Given the description of an element on the screen output the (x, y) to click on. 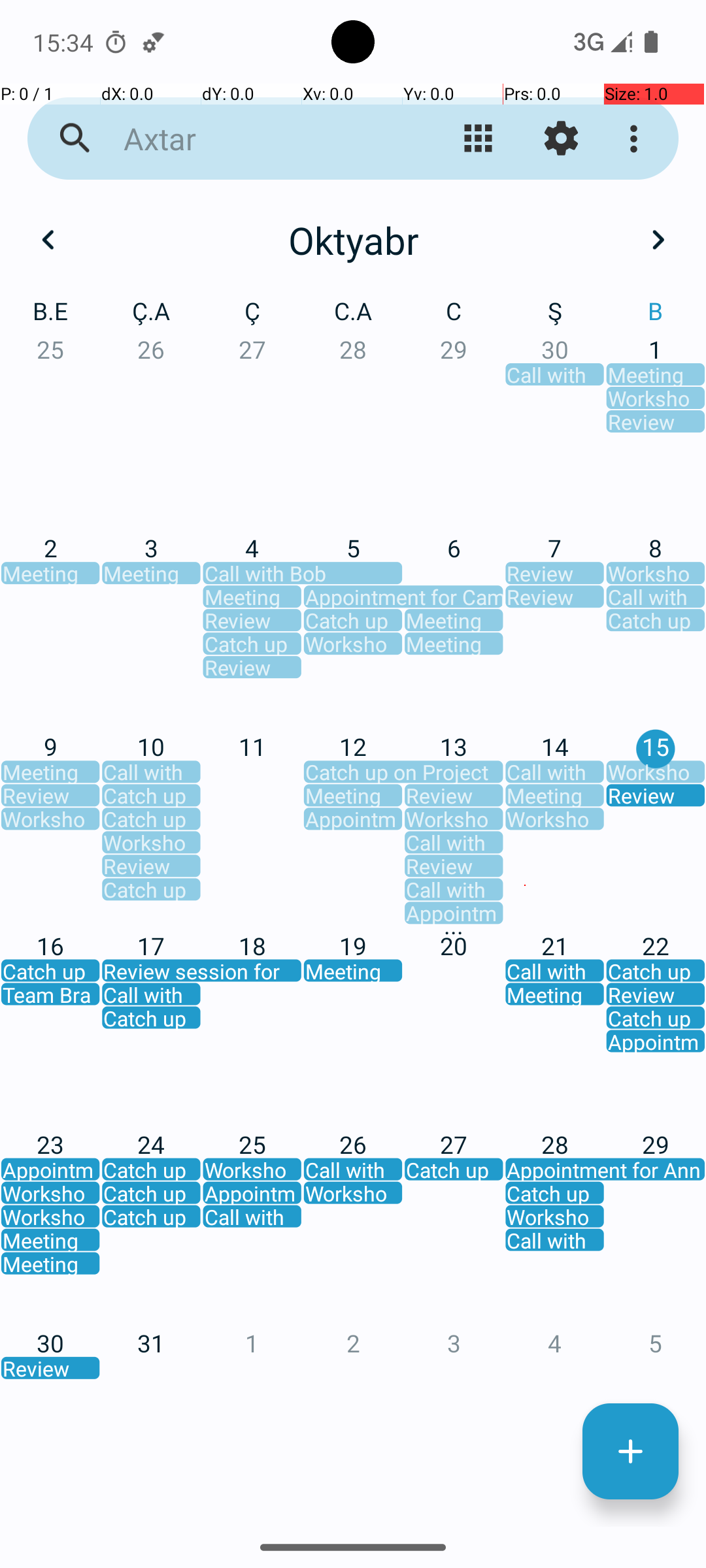
Axtar Element type: android.widget.EditText (252, 138)
Görünüşü dəyiş Element type: android.widget.Button (477, 138)
Digər seçimlər Element type: android.widget.ImageView (636, 138)
Oktyabr Element type: android.widget.TextView (352, 239)
